Given the description of an element on the screen output the (x, y) to click on. 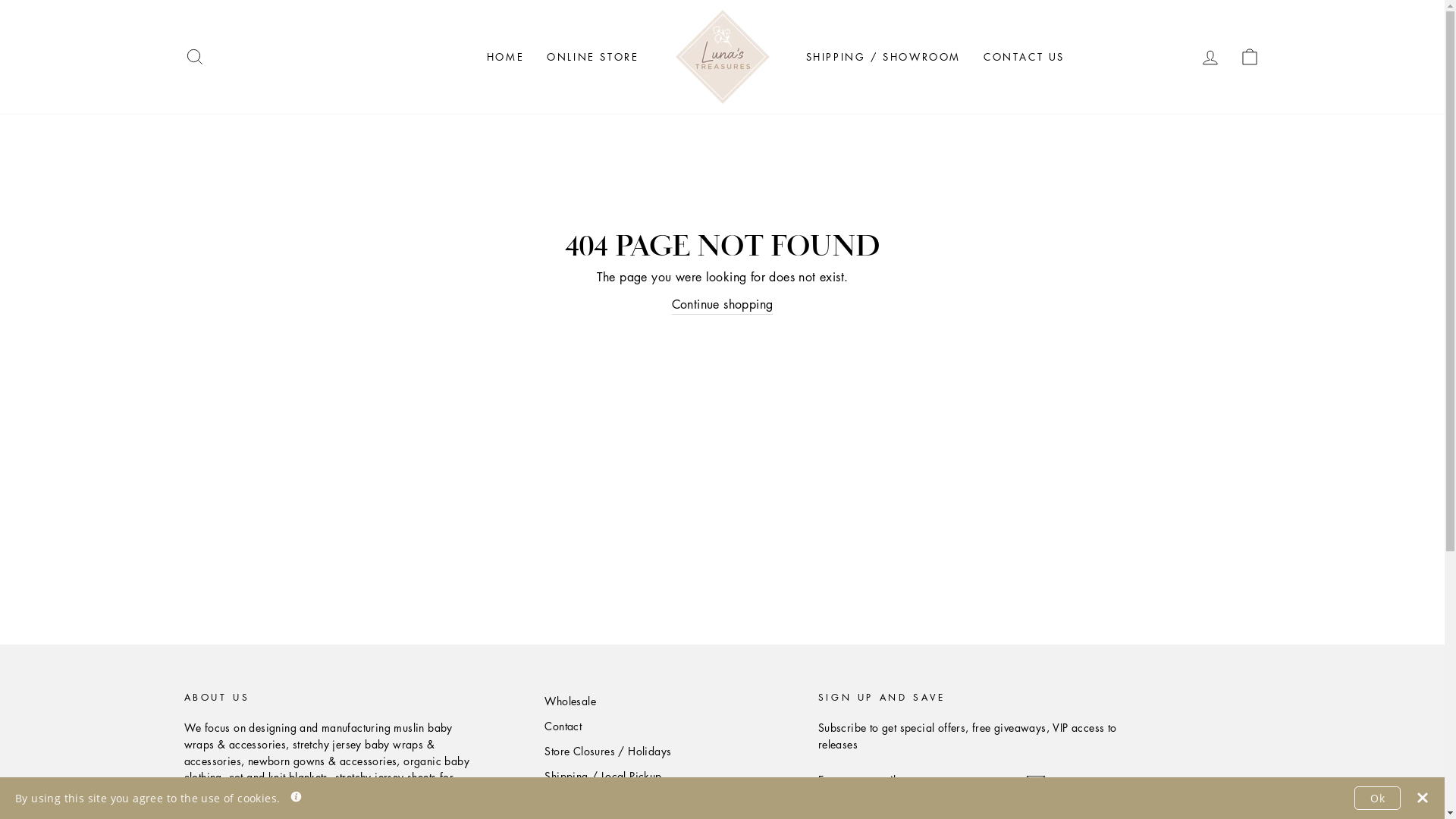
CONTACT US Element type: text (1024, 56)
ONLINE STORE Element type: text (592, 56)
LOG IN Element type: text (1210, 56)
Skip to content Element type: text (0, 0)
Shipping / Local Pickup Element type: text (602, 776)
Store Closures / Holidays Element type: text (607, 751)
Contact Element type: text (562, 726)
Wholesale Element type: text (570, 701)
Ok Element type: text (1377, 797)
CART Element type: text (1249, 56)
SEARCH Element type: text (193, 56)
Shop Now Element type: text (570, 801)
SHIPPING / SHOWROOM Element type: text (883, 56)
HOME Element type: text (505, 56)
Continue shopping Element type: text (722, 304)
